Given the description of an element on the screen output the (x, y) to click on. 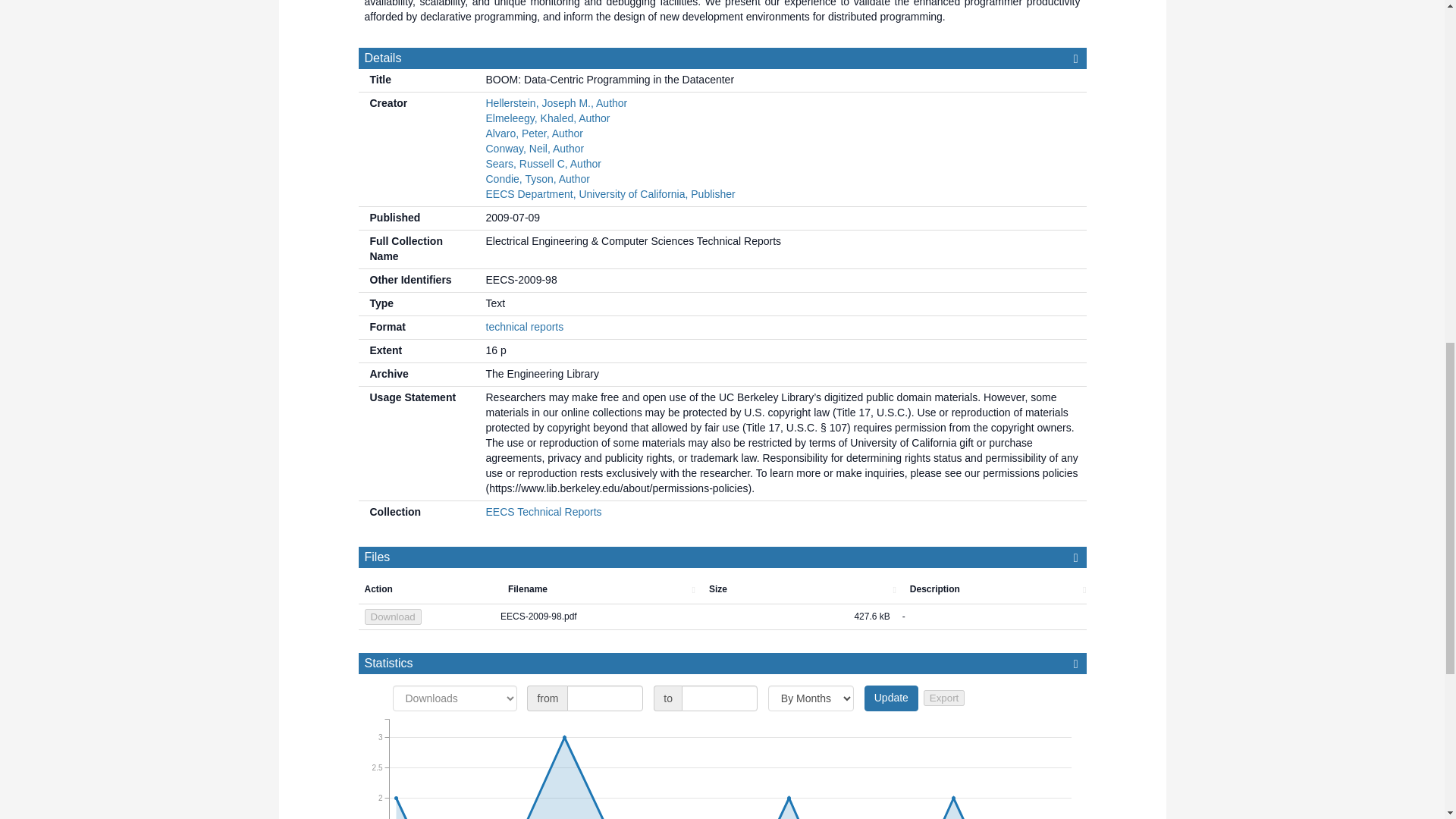
EECS Technical Reports (542, 511)
Sears, Russell C, Author (542, 163)
Action Filename Size Description (722, 589)
Condie, Tyson, Author (536, 178)
Hellerstein, Joseph M., Author (555, 102)
Conway, Neil, Author (533, 148)
Download EECS-2009-98.pdf 427.6 kB - (722, 616)
Alvaro, Peter, Author (533, 133)
EECS-2009-98.pdf (595, 616)
Update (891, 698)
Elmeleegy, Khaled, Author (547, 118)
- (991, 616)
Action Filename Size Description (727, 589)
